Given the description of an element on the screen output the (x, y) to click on. 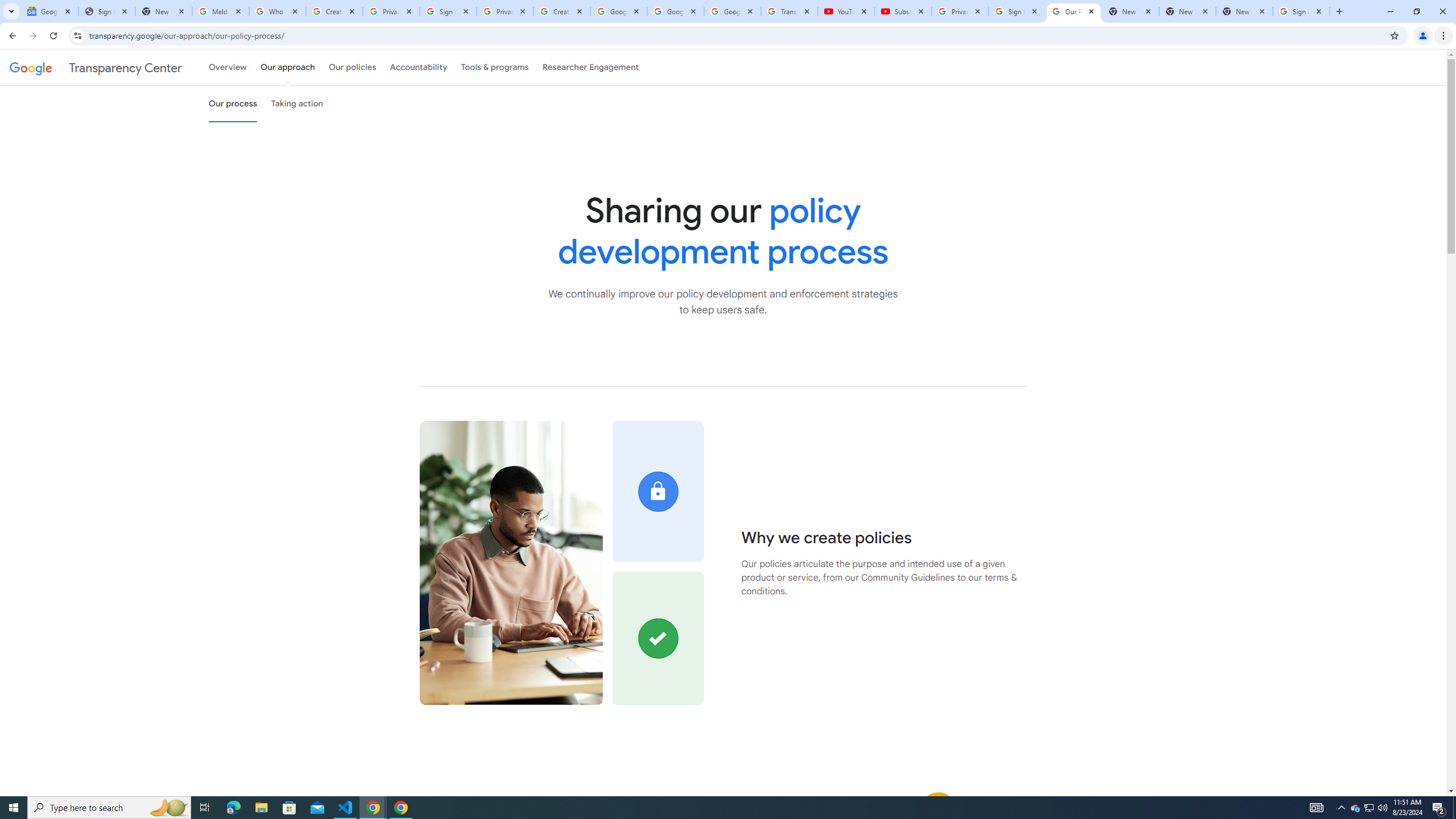
Accountability (418, 67)
YouTube (845, 11)
Create your Google Account (561, 11)
Our policies (351, 67)
Tools & programs (494, 67)
Researcher Engagement (590, 67)
